Given the description of an element on the screen output the (x, y) to click on. 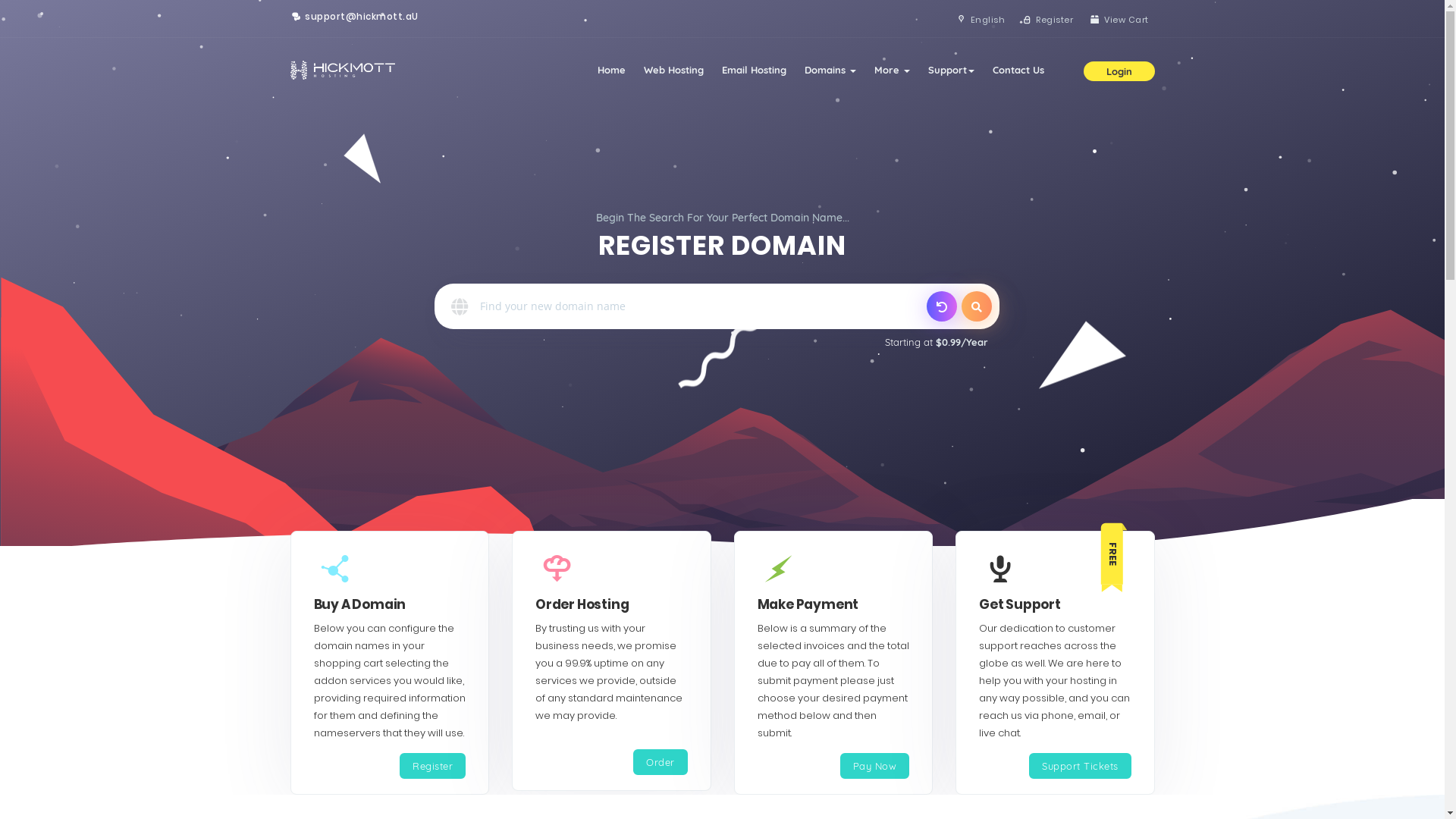
Home Element type: text (611, 69)
Domains Element type: text (829, 69)
English Element type: text (979, 19)
Register Element type: text (432, 766)
Register Element type: text (1046, 19)
Support Tickets Element type: text (1080, 766)
More Element type: text (891, 69)
Email Hosting Element type: text (753, 69)
Web Hosting Element type: text (672, 69)
Contact Us Element type: text (1017, 69)
Login Element type: text (1118, 70)
Pay Now Element type: text (875, 766)
Support Element type: text (951, 69)
Order Element type: text (660, 762)
Transfer Element type: text (941, 306)
Search Element type: text (976, 306)
View Cart Element type: text (1118, 19)
